Given the description of an element on the screen output the (x, y) to click on. 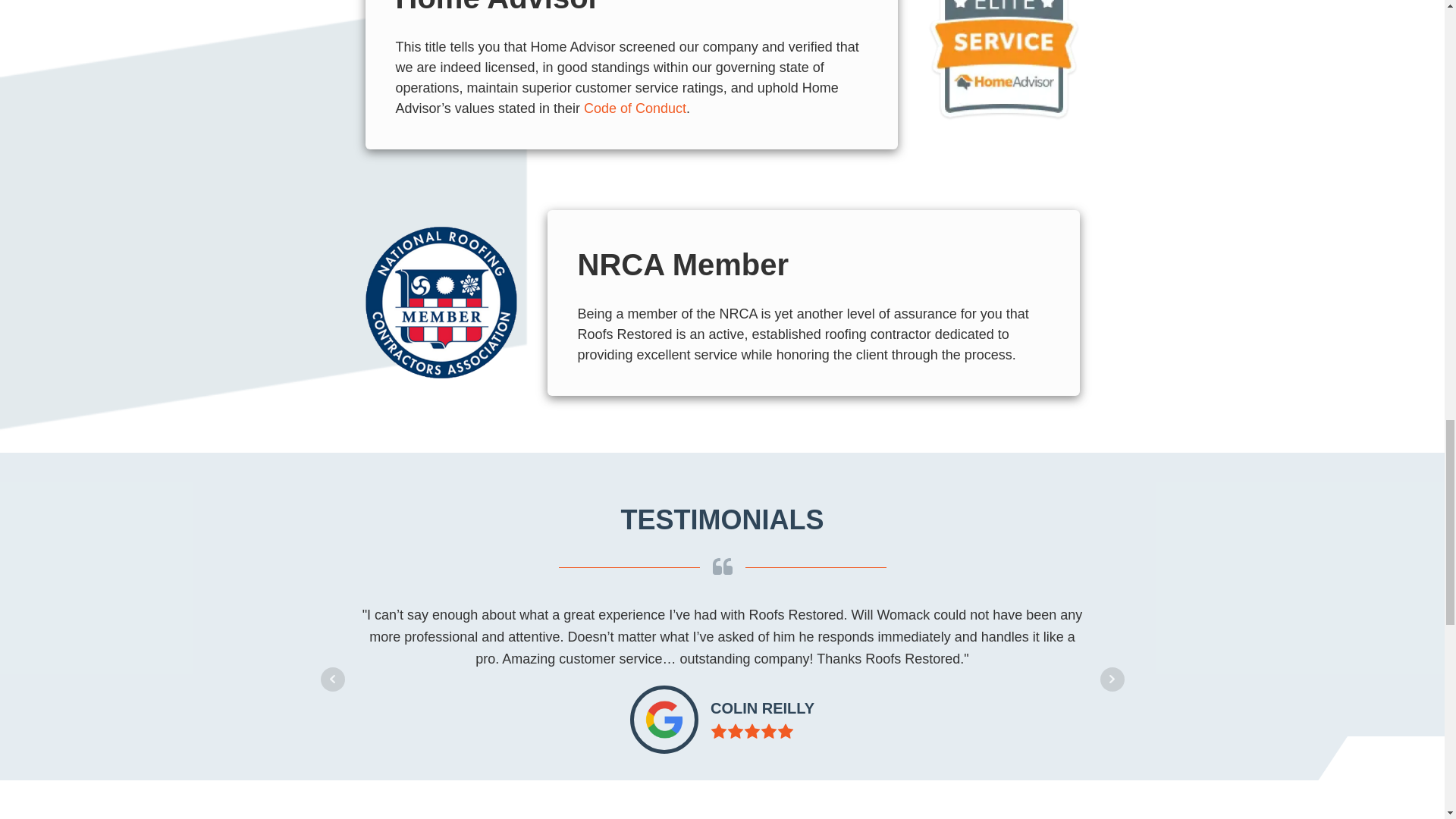
Prev (331, 679)
Code of Conduct (634, 108)
Next (1111, 679)
